Given the description of an element on the screen output the (x, y) to click on. 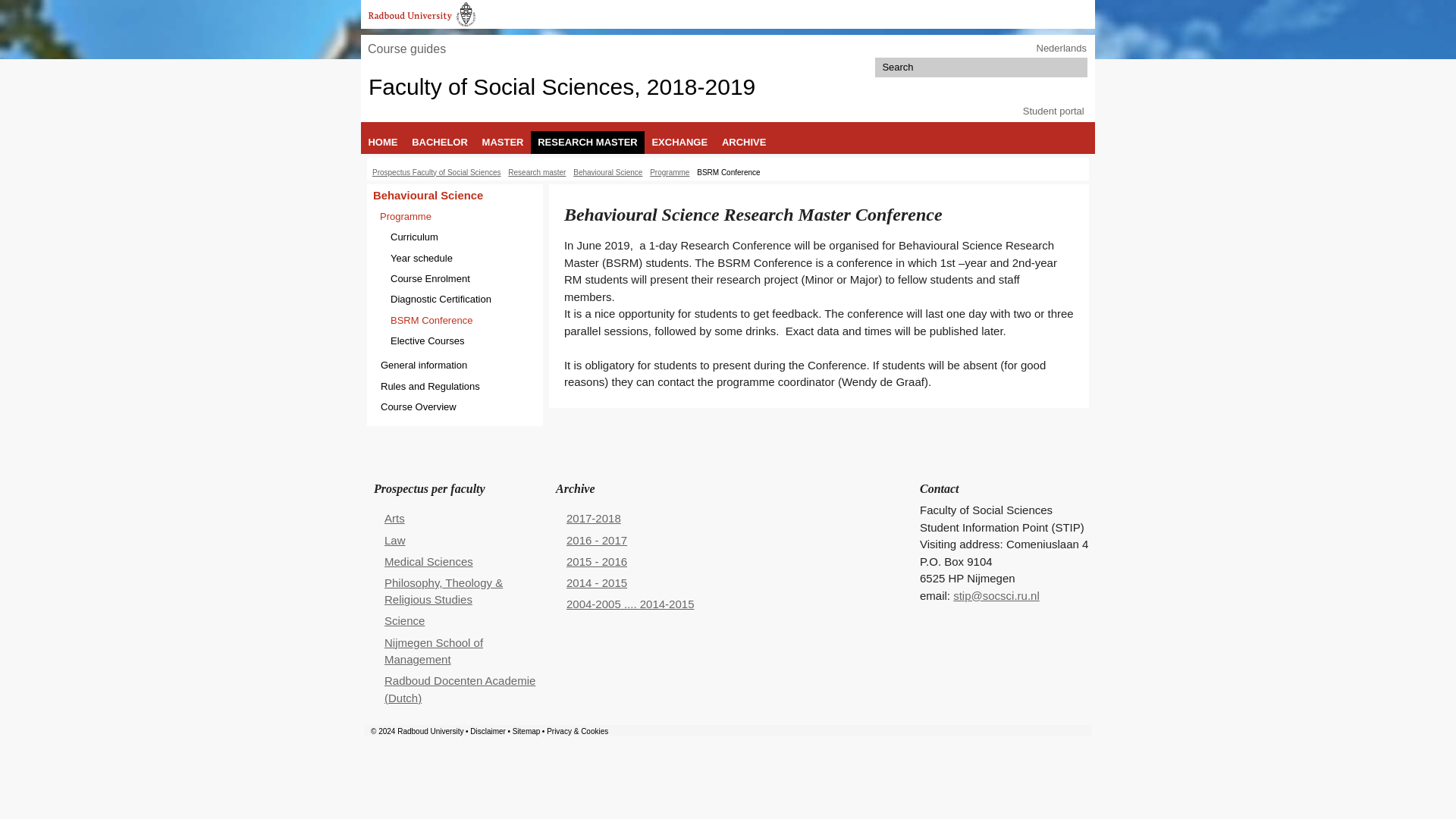
Nederlands (1060, 48)
Course guides (406, 48)
Radboud University (422, 14)
Faculty of Social Sciences, 2018-2019 (561, 85)
BACHELOR (439, 141)
HOME (382, 141)
Search (1076, 66)
Student portal (1053, 110)
